Given the description of an element on the screen output the (x, y) to click on. 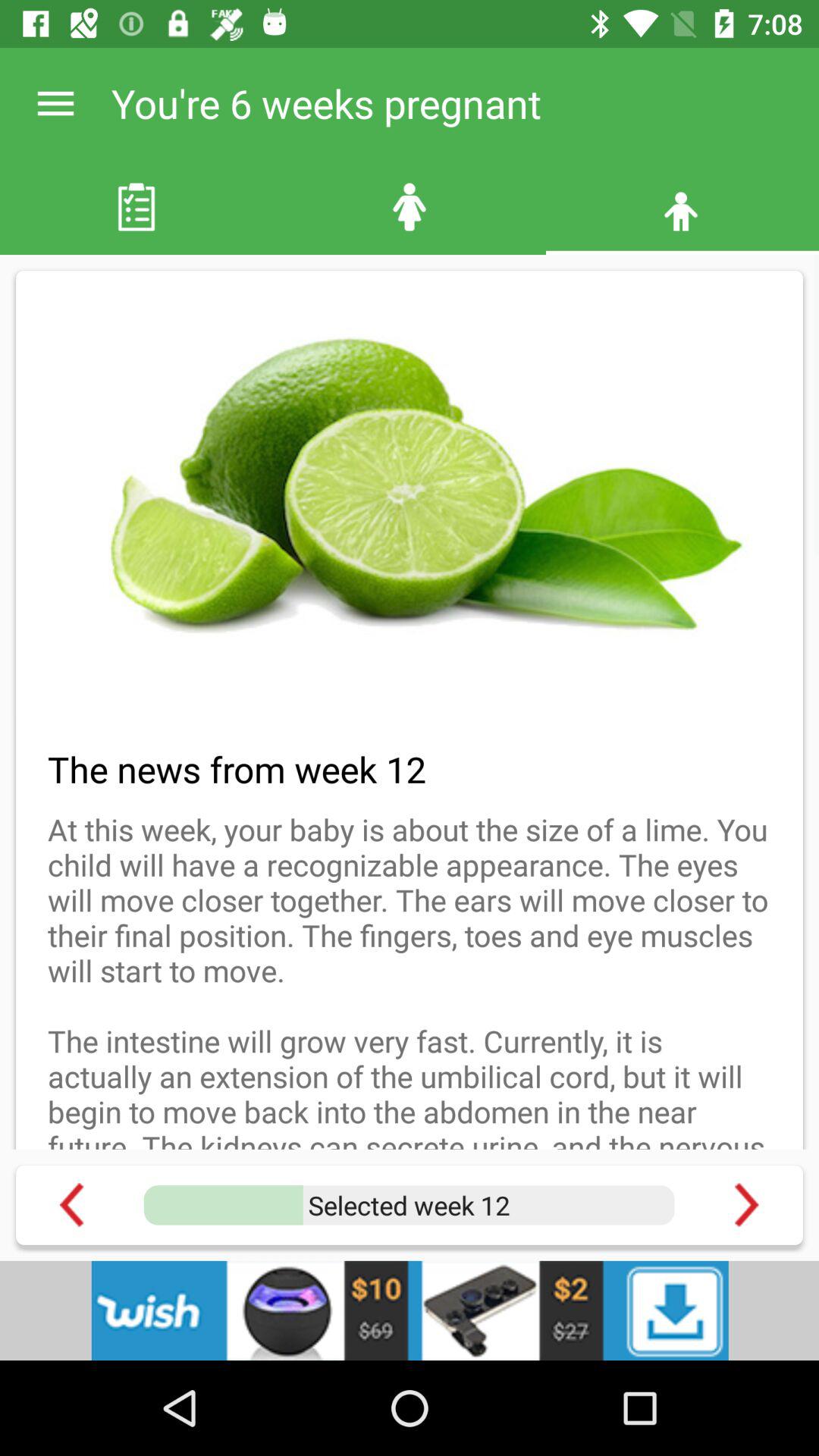
go to previous page (71, 1204)
